Given the description of an element on the screen output the (x, y) to click on. 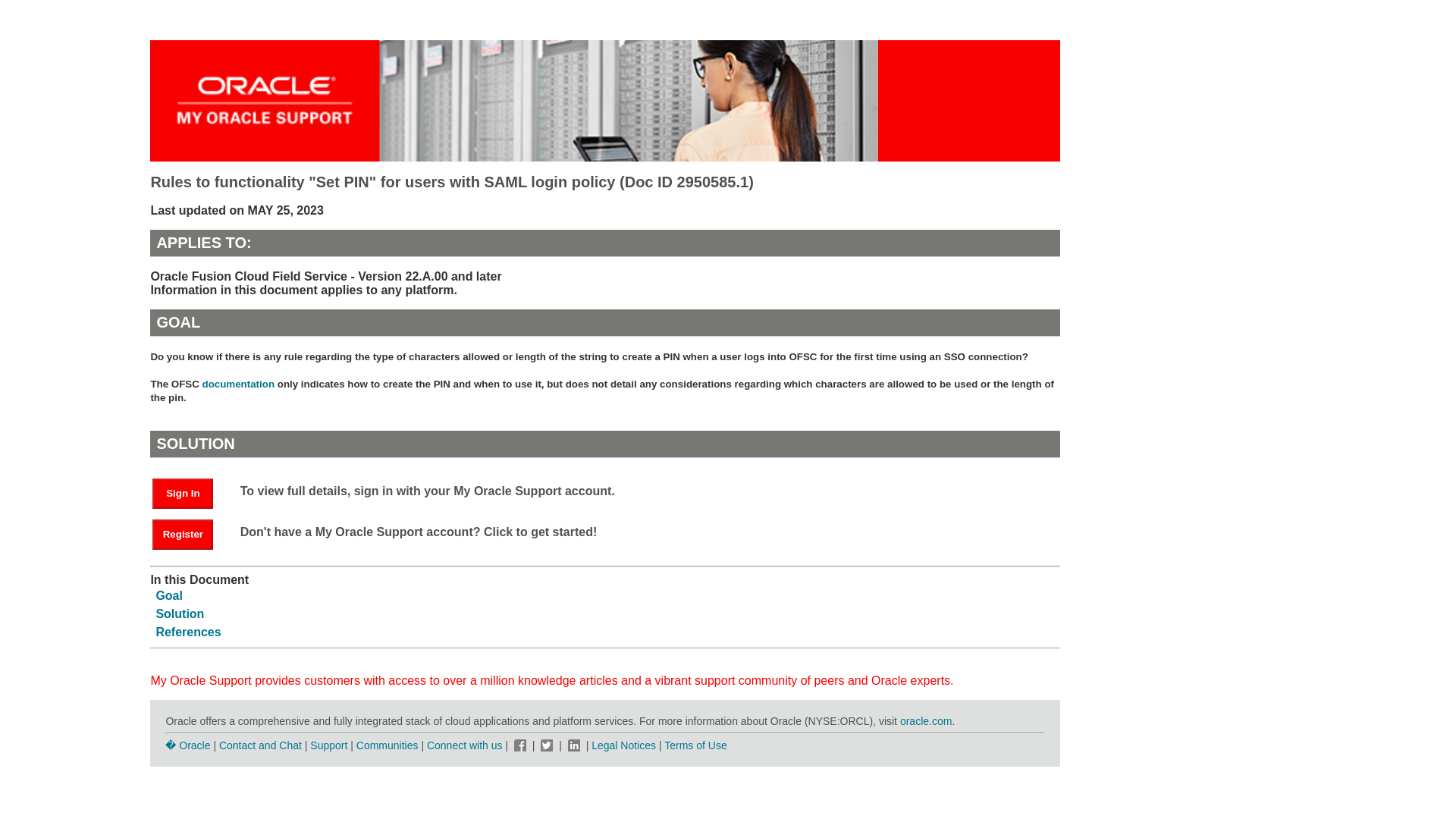
Support (328, 745)
Legal Notices (623, 745)
Communities (387, 745)
Solution (179, 613)
References (188, 631)
Register (182, 534)
Sign In (190, 492)
Create and use a PIN (238, 383)
Sign In (182, 493)
documentation (238, 383)
